Given the description of an element on the screen output the (x, y) to click on. 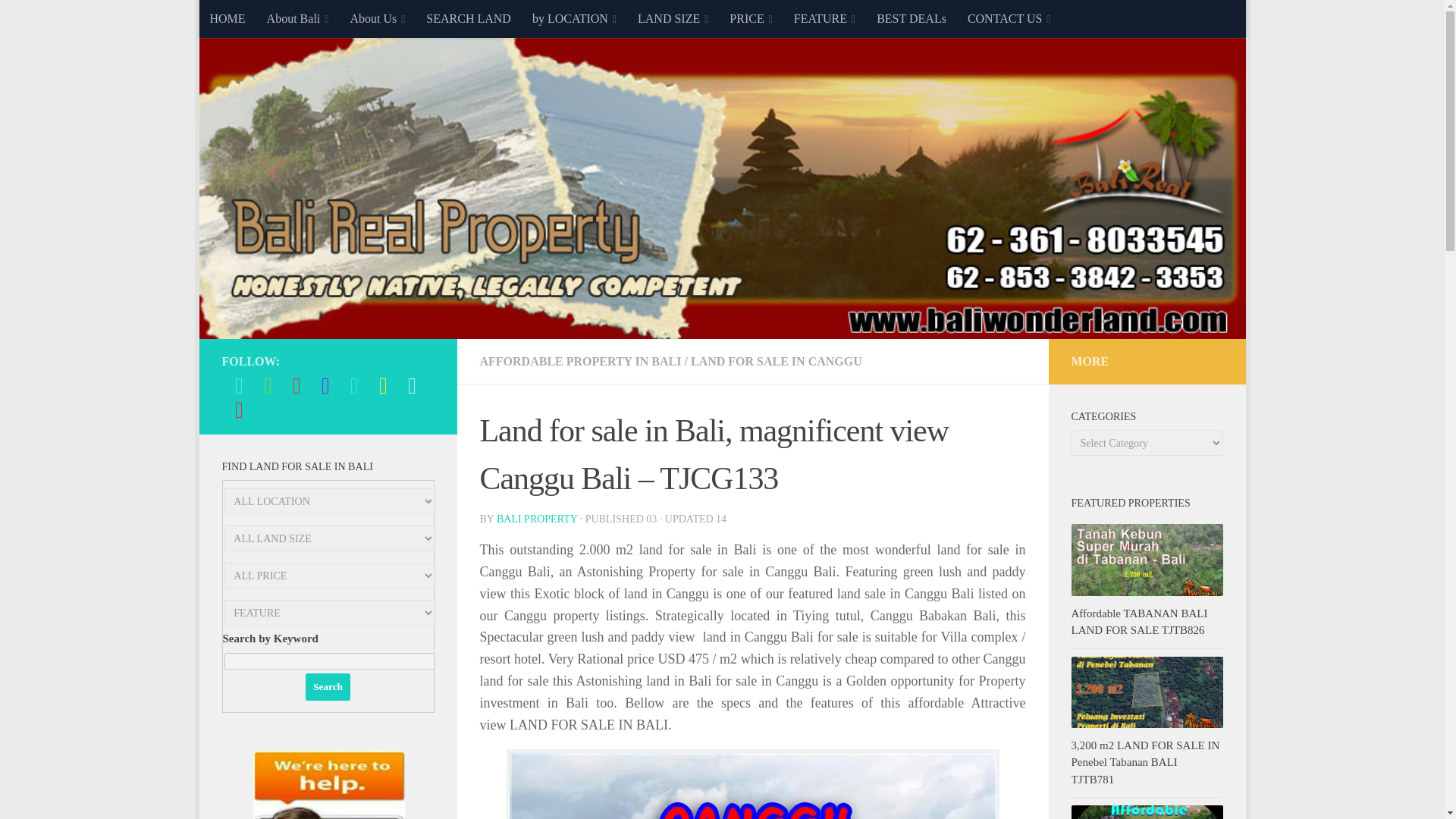
Search (327, 687)
Skip to content (258, 20)
